Given the description of an element on the screen output the (x, y) to click on. 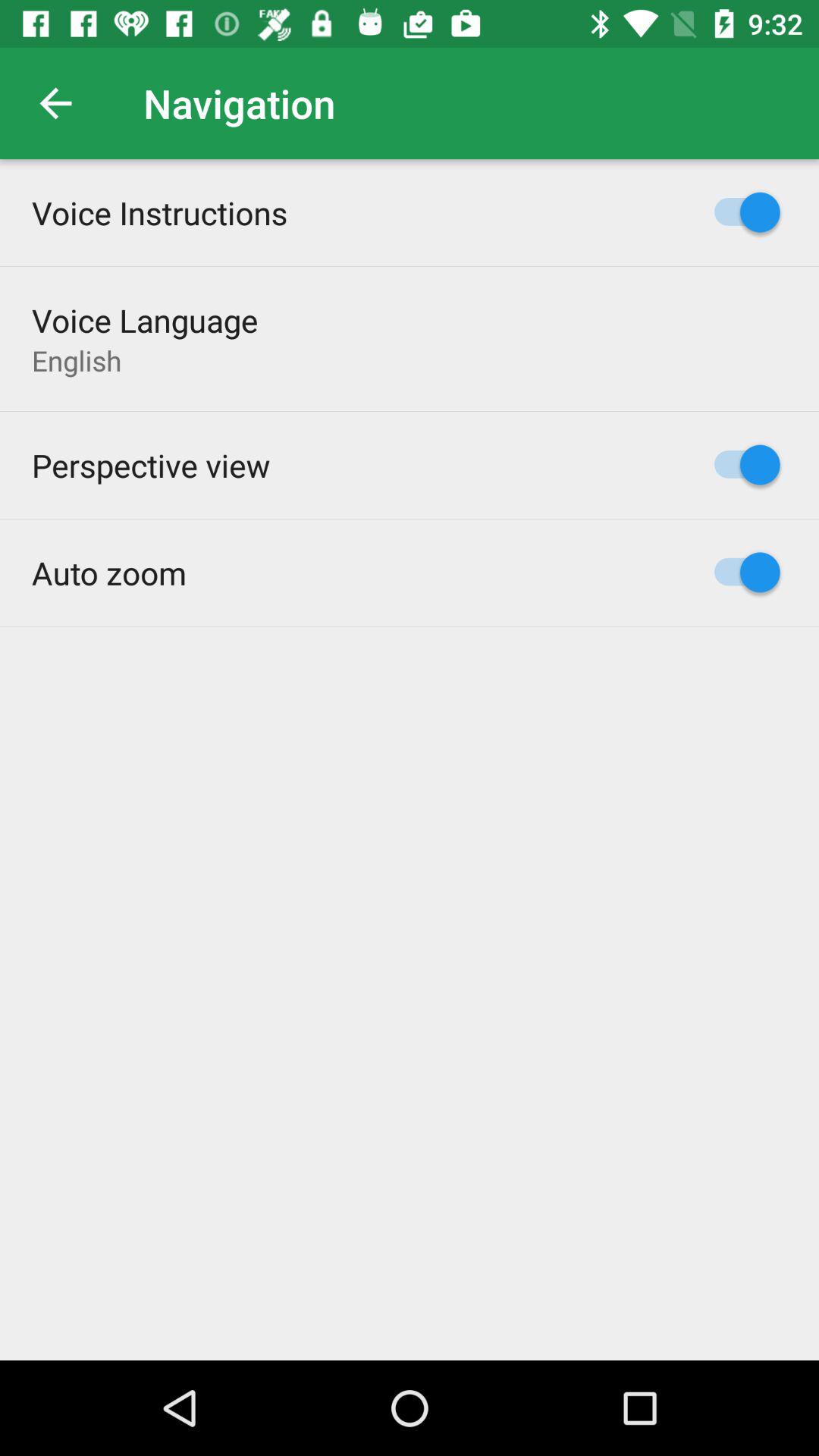
press icon above the english item (144, 319)
